Given the description of an element on the screen output the (x, y) to click on. 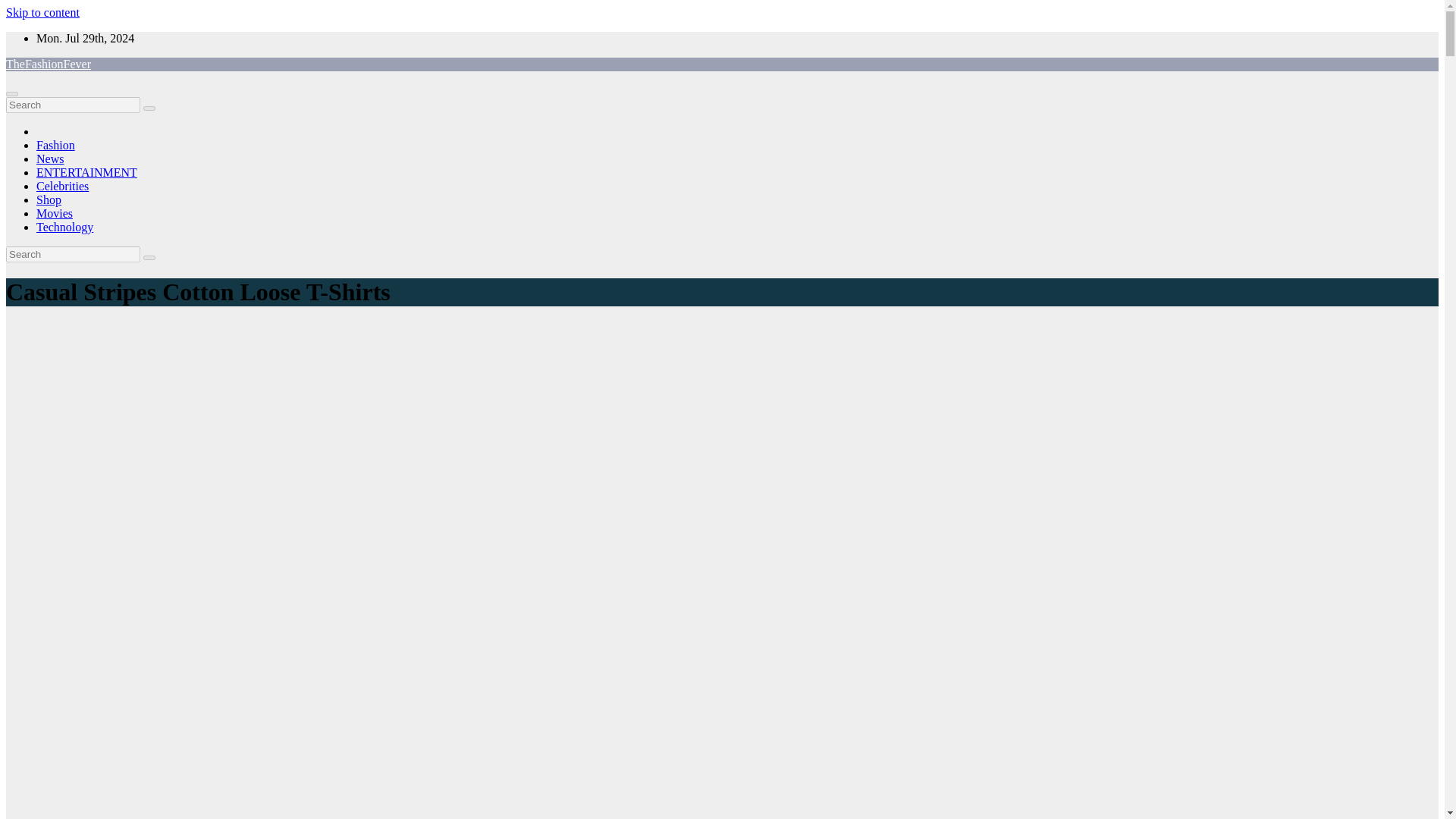
Technology (64, 226)
Fashion (55, 144)
ENTERTAINMENT (86, 172)
News (50, 158)
Technology (64, 226)
News (50, 158)
Shop (48, 199)
Movies (54, 213)
Celebrities (62, 185)
Fashion (55, 144)
Skip to content (42, 11)
TheFashionFever (47, 63)
ENTERTAINMENT (86, 172)
Celebrities (62, 185)
Shop (48, 199)
